Given the description of an element on the screen output the (x, y) to click on. 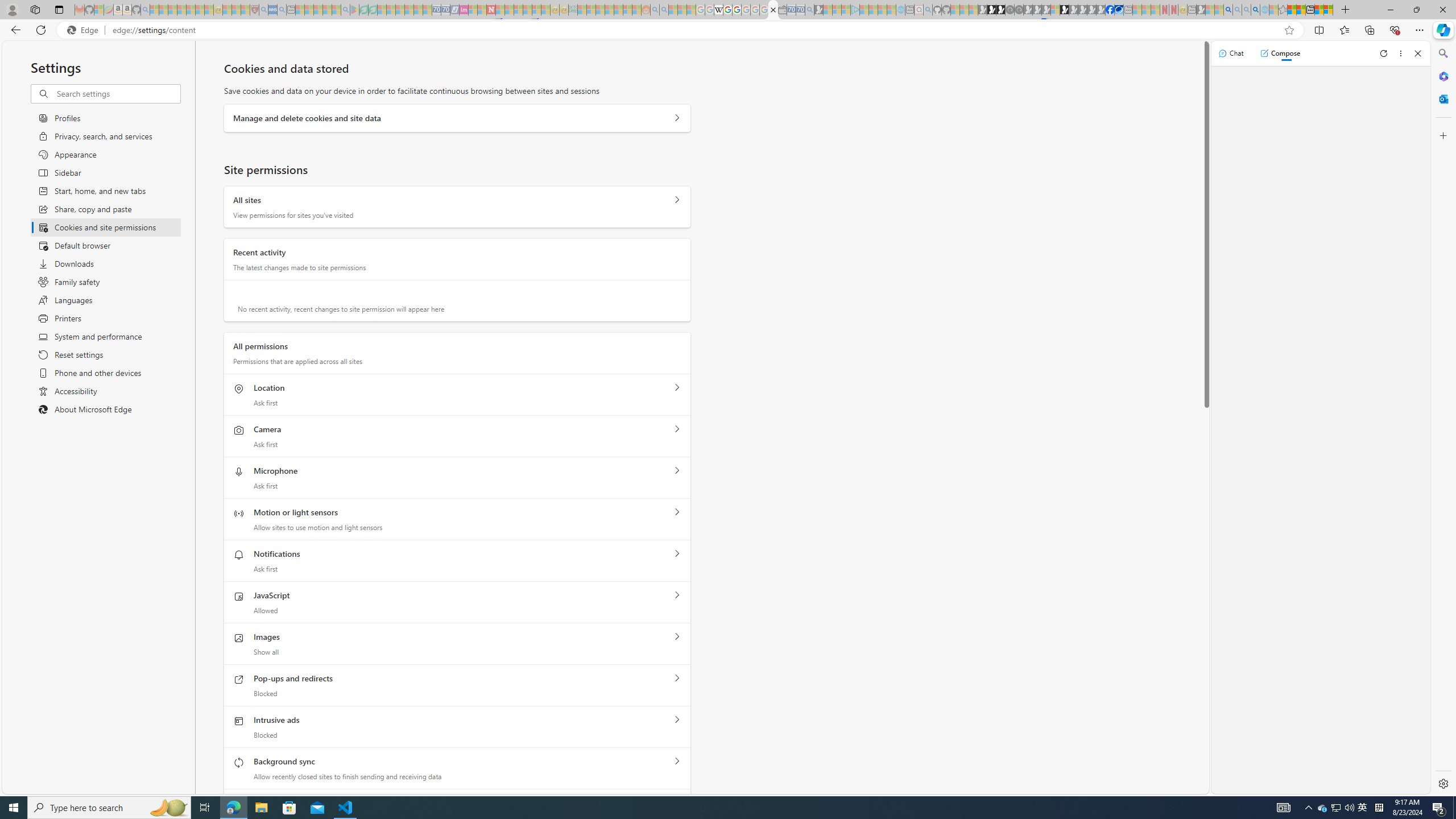
Aberdeen, Hong Kong SAR weather forecast | Microsoft Weather (1300, 9)
Expert Portfolios - Sleeping (608, 9)
Bing AI - Search (1227, 9)
Camera (676, 429)
